Given the description of an element on the screen output the (x, y) to click on. 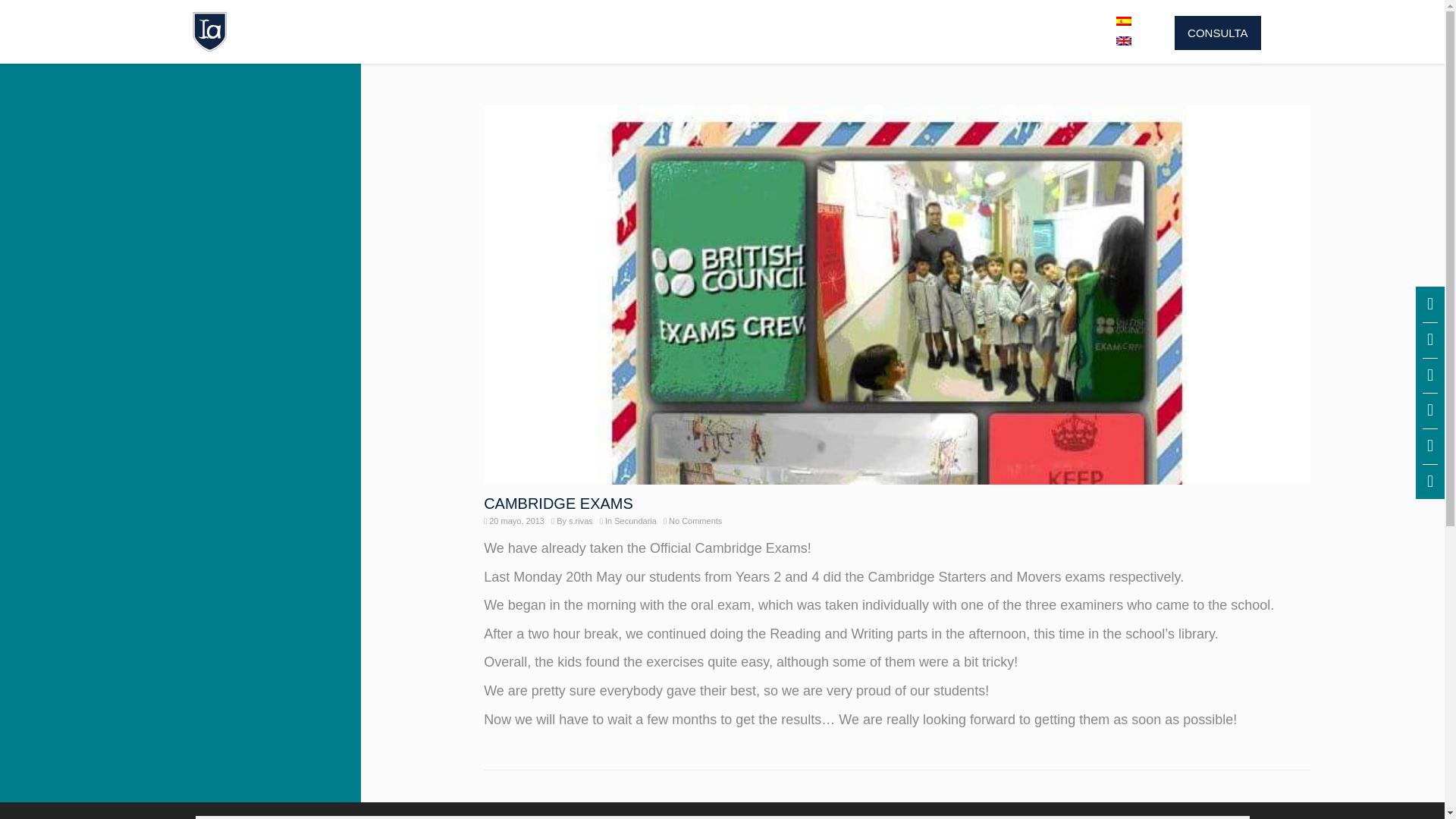
APRENDIZAJE (688, 31)
CONTACTO (1045, 31)
NOTICIAS (941, 31)
NUESTRO COLEGIO (422, 31)
VIDA ESCOLAR (820, 31)
CONSULTA (1217, 32)
ADMISIONES (564, 31)
